Given the description of an element on the screen output the (x, y) to click on. 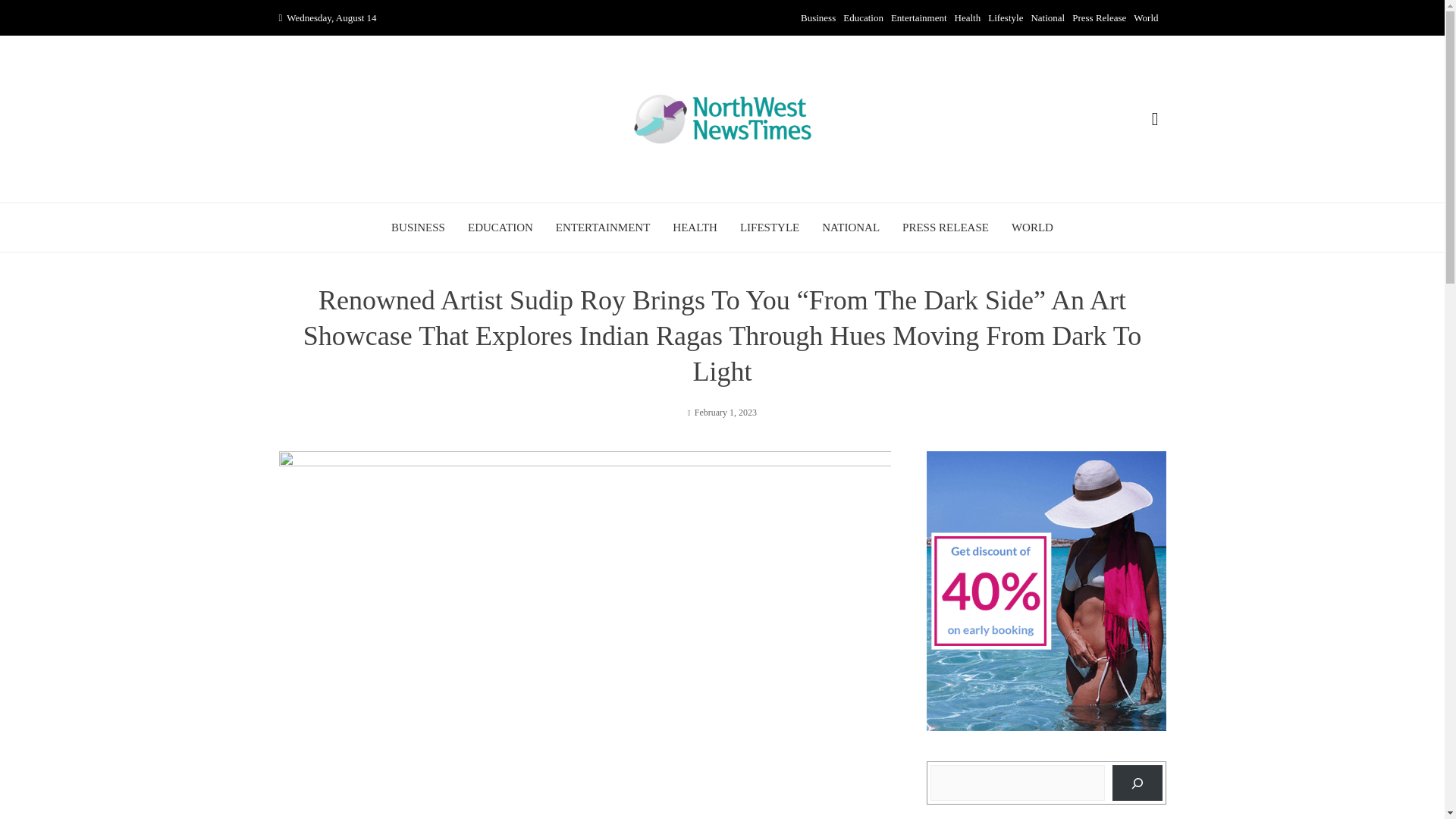
World (1145, 17)
Press Release (1098, 17)
National (1047, 17)
Business (817, 17)
WORLD (1031, 227)
LIFESTYLE (769, 227)
BUSINESS (418, 227)
HEALTH (694, 227)
NATIONAL (850, 227)
Education (863, 17)
